Given the description of an element on the screen output the (x, y) to click on. 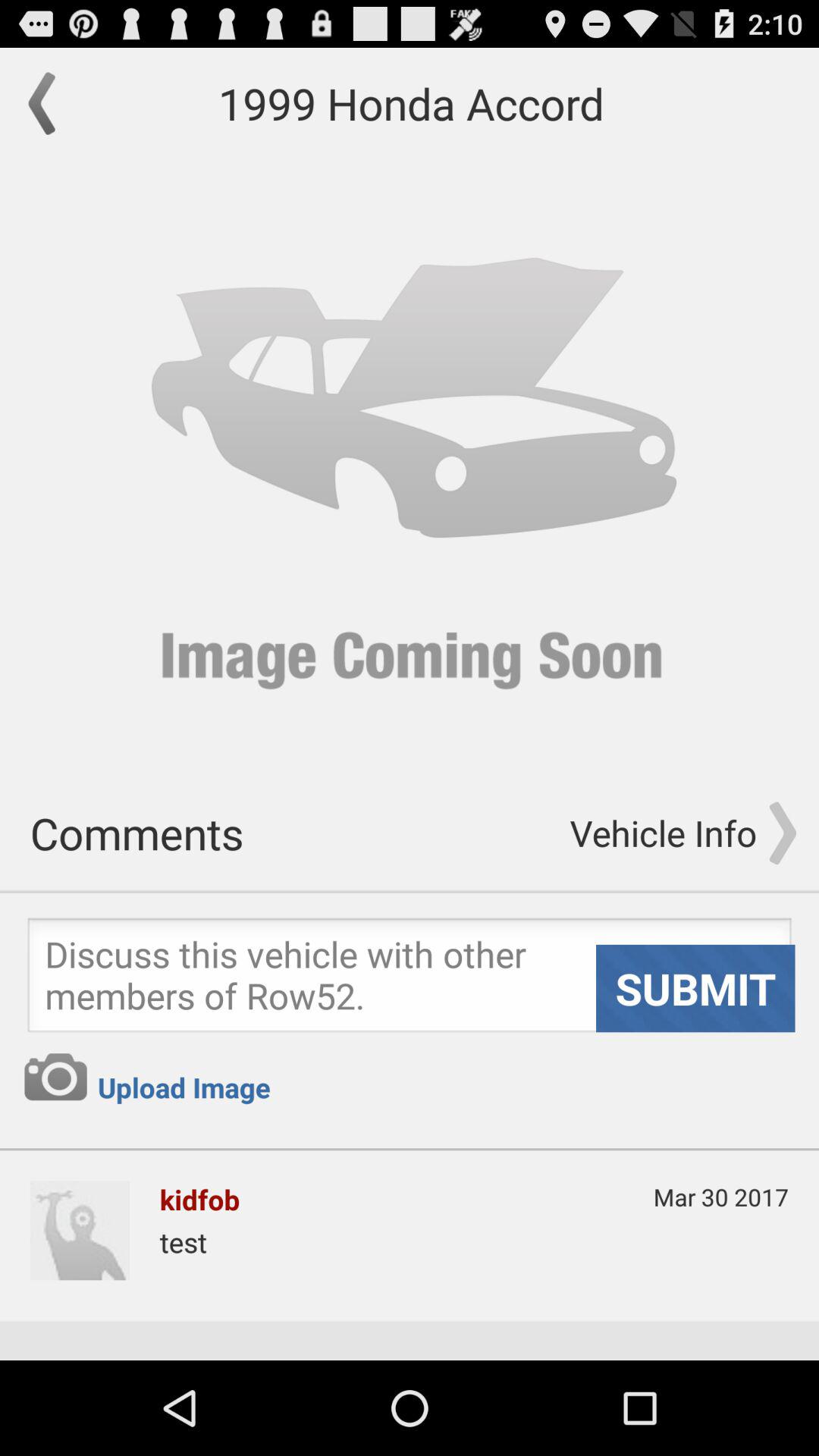
turn off the submit (695, 988)
